Given the description of an element on the screen output the (x, y) to click on. 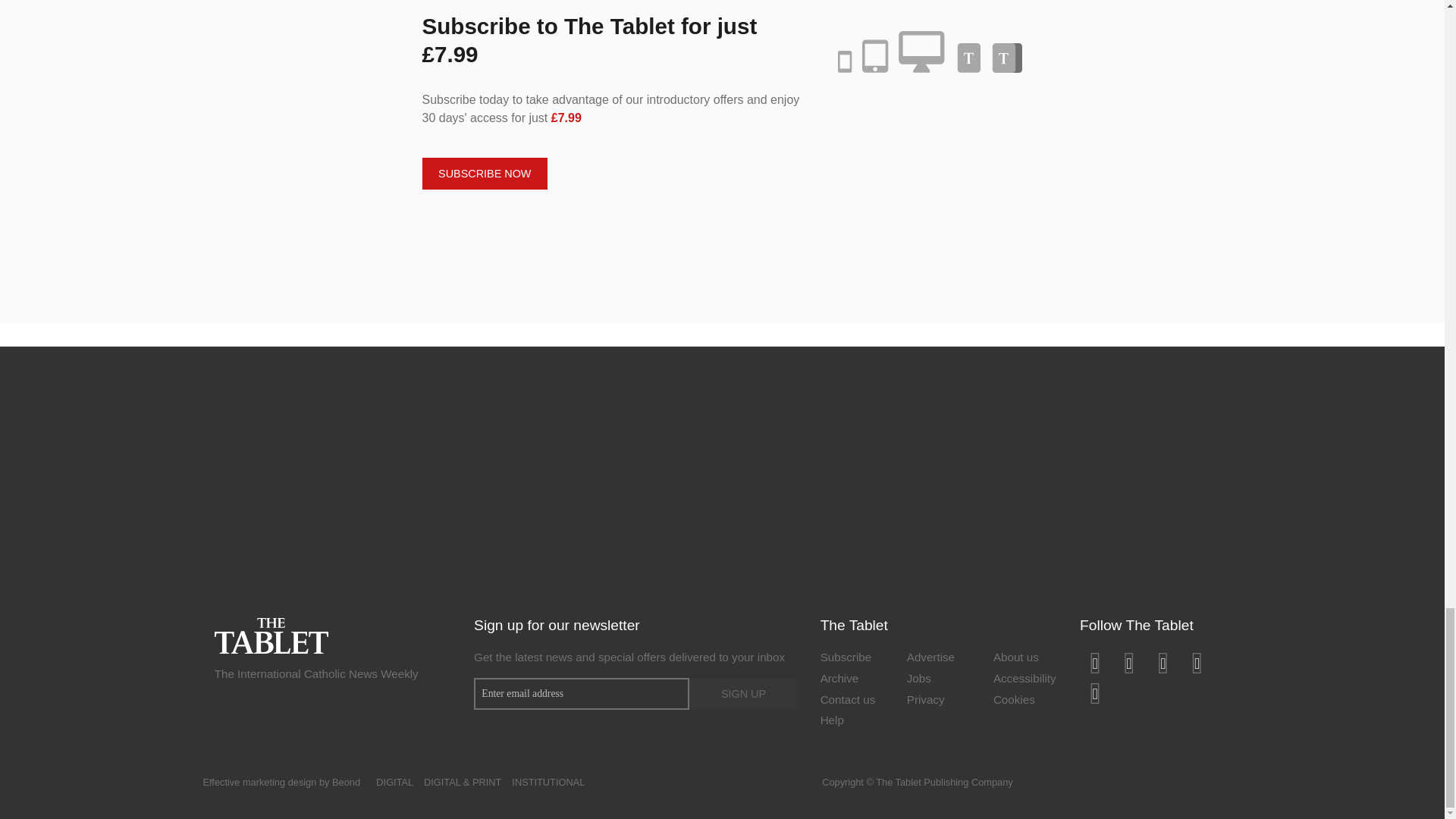
Cookies (1024, 701)
The Tablet (271, 634)
Help (852, 721)
Beond (345, 781)
About us (1024, 658)
SIGN UP (742, 694)
Advertise (939, 658)
Accessibility (1024, 680)
Archive (852, 680)
SUBSCRIBE NOW (484, 173)
